Given the description of an element on the screen output the (x, y) to click on. 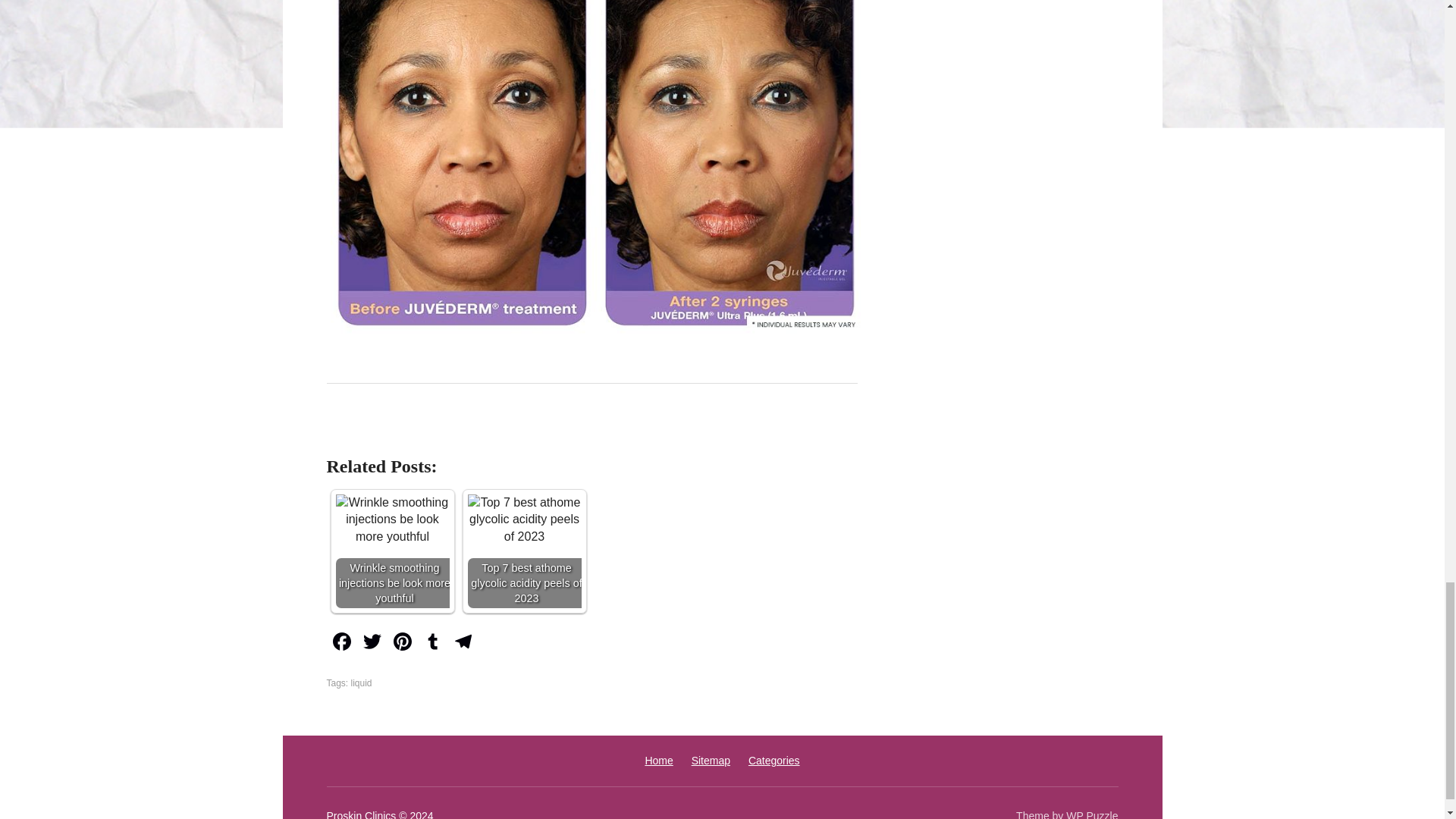
Top 7 best athome glycolic acidity peels of 2023 (523, 551)
Facebook (341, 643)
Top 7 best athome glycolic acidity peels of 2023 (523, 519)
Wrinkle smoothing injections be look more youthful (391, 551)
Twitter (371, 643)
Telegram (461, 643)
Facebook (341, 643)
Share in Twitter (492, 433)
Tumblr (431, 643)
